Given the description of an element on the screen output the (x, y) to click on. 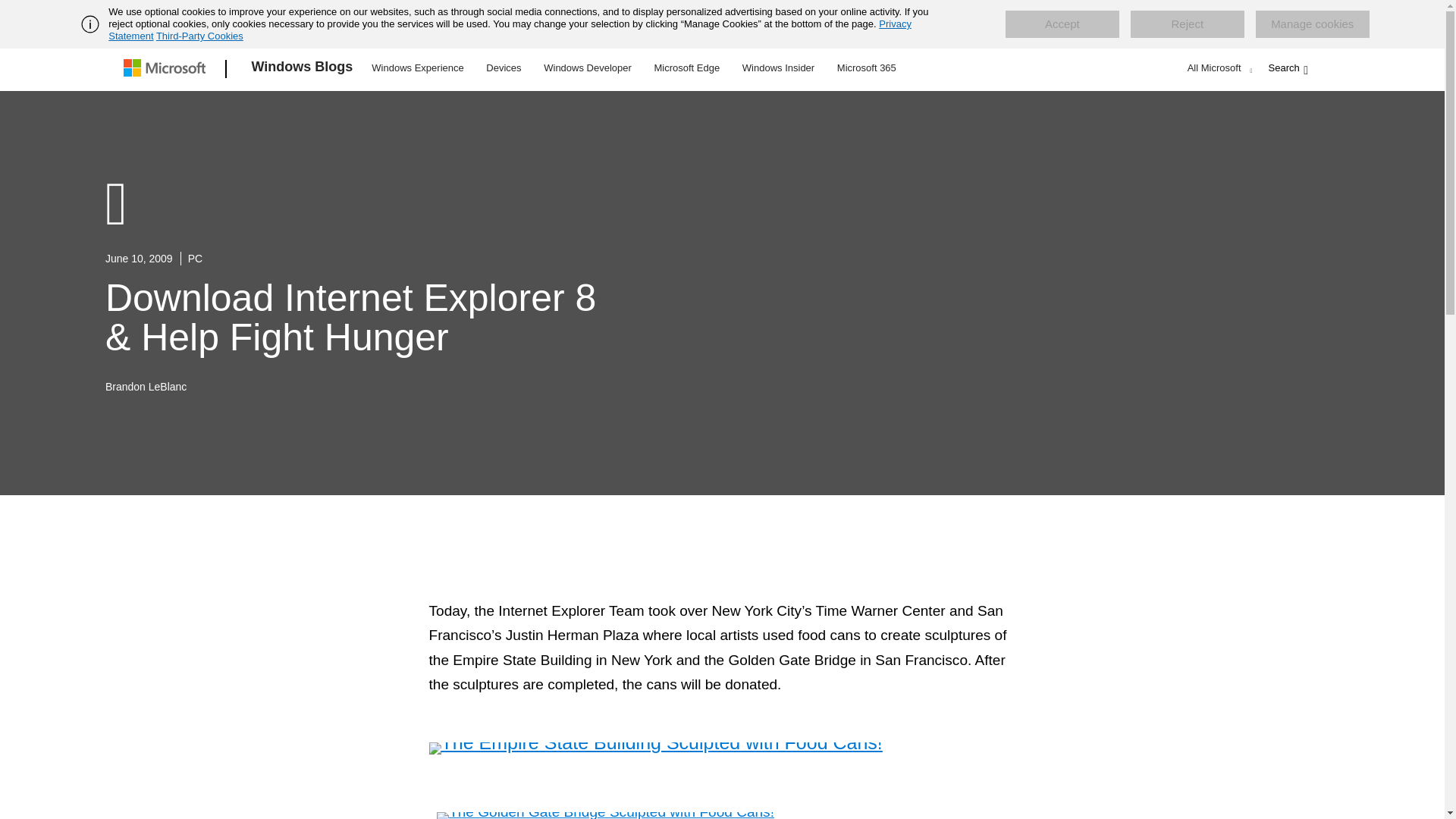
The Empire State Building Sculpted with Food Cans! (655, 748)
Windows Insider (778, 67)
Microsoft 365 (865, 67)
Third-Party Cookies (199, 35)
All Microsoft (1217, 67)
Privacy Statement (509, 29)
Microsoft (167, 69)
Windows Developer (588, 67)
The Golden Gate Bridge Sculpted with Food Cans! (605, 815)
Devices (503, 67)
Microsoft Edge (686, 67)
Windows Experience (417, 67)
Reject (1187, 23)
Windows Blogs (302, 69)
Accept (1062, 23)
